Given the description of an element on the screen output the (x, y) to click on. 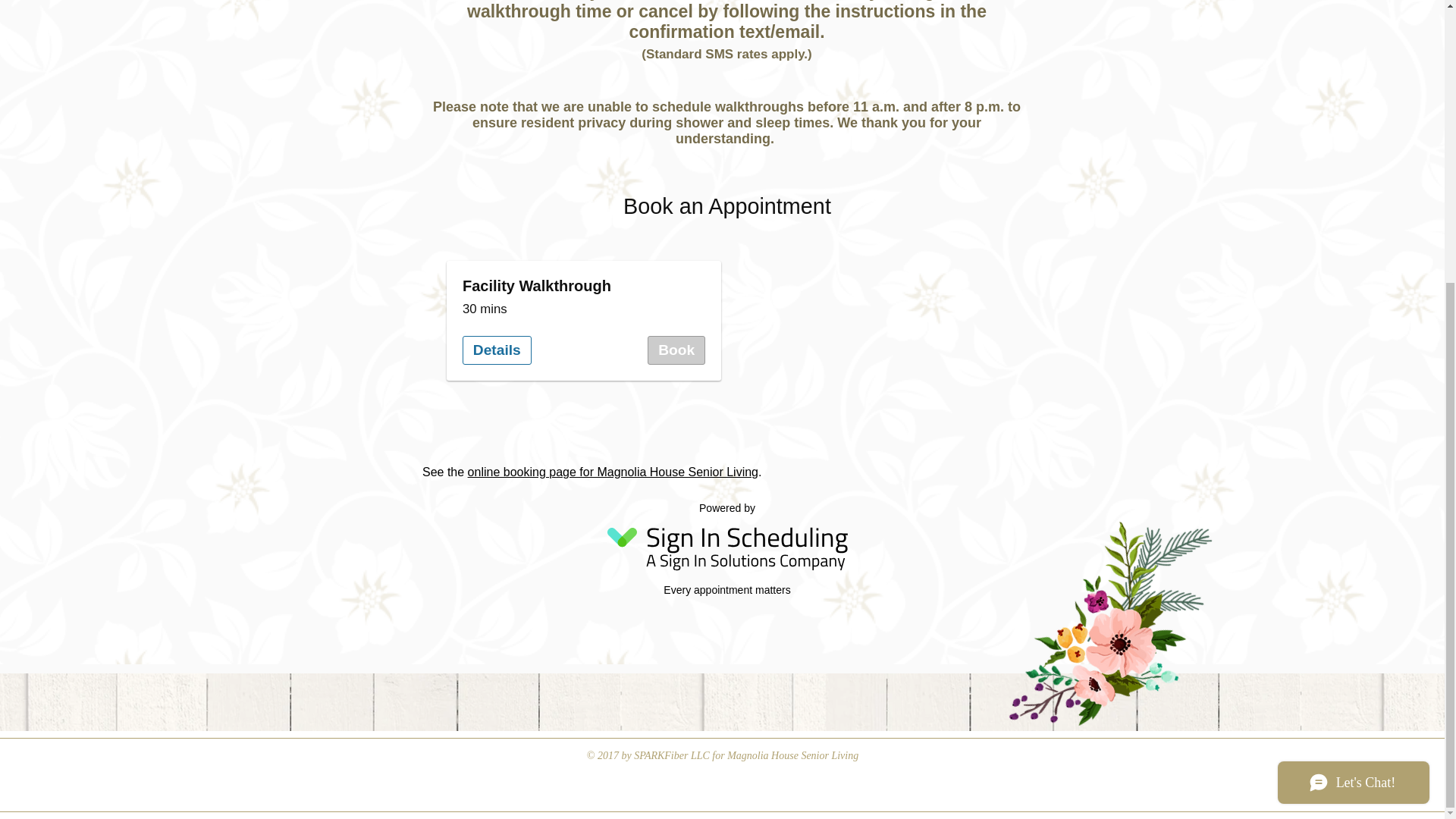
Facebook Like (449, 757)
